Given the description of an element on the screen output the (x, y) to click on. 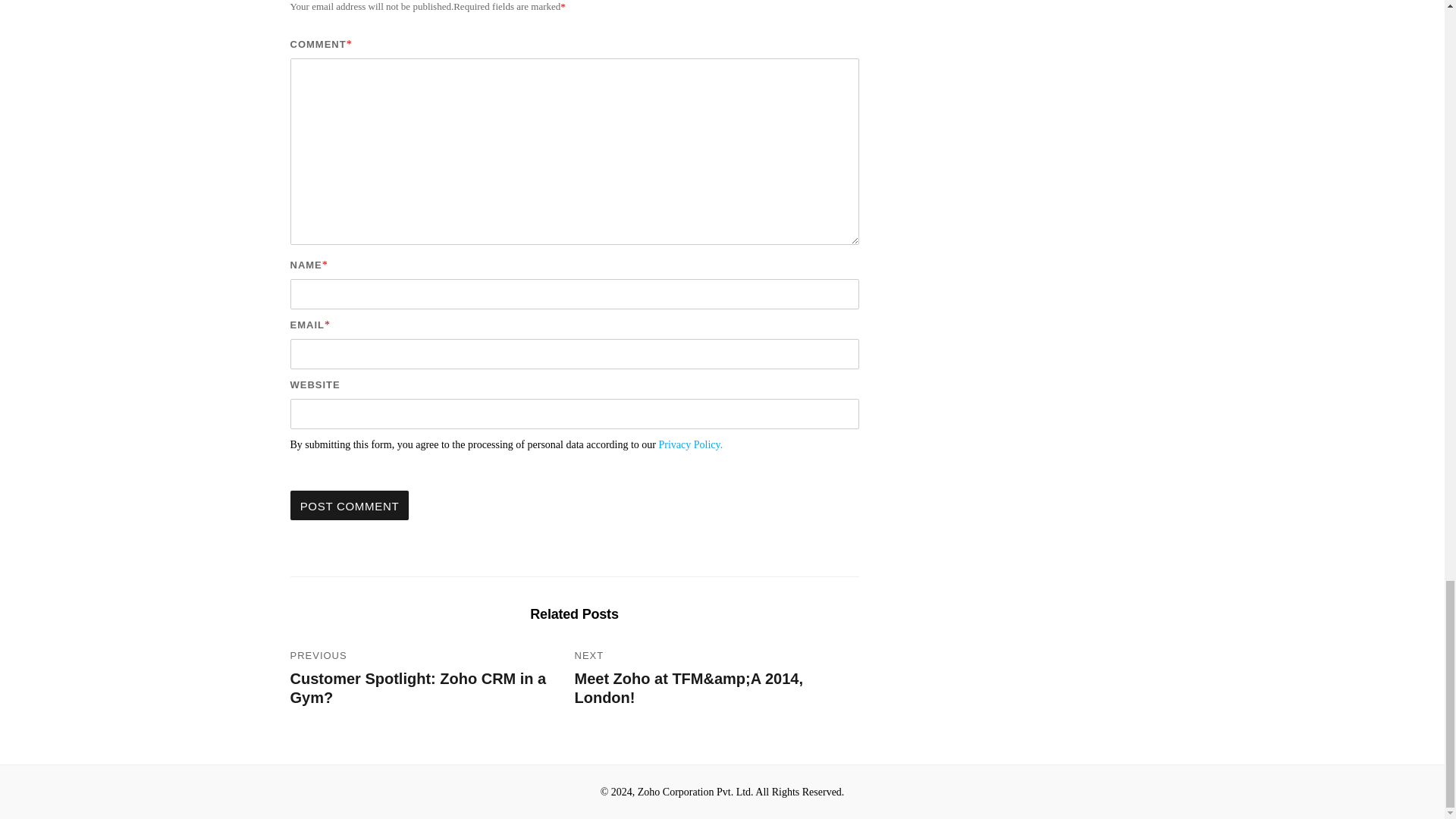
Post Comment (349, 505)
Post Comment (349, 505)
Privacy Policy. (691, 444)
